Given the description of an element on the screen output the (x, y) to click on. 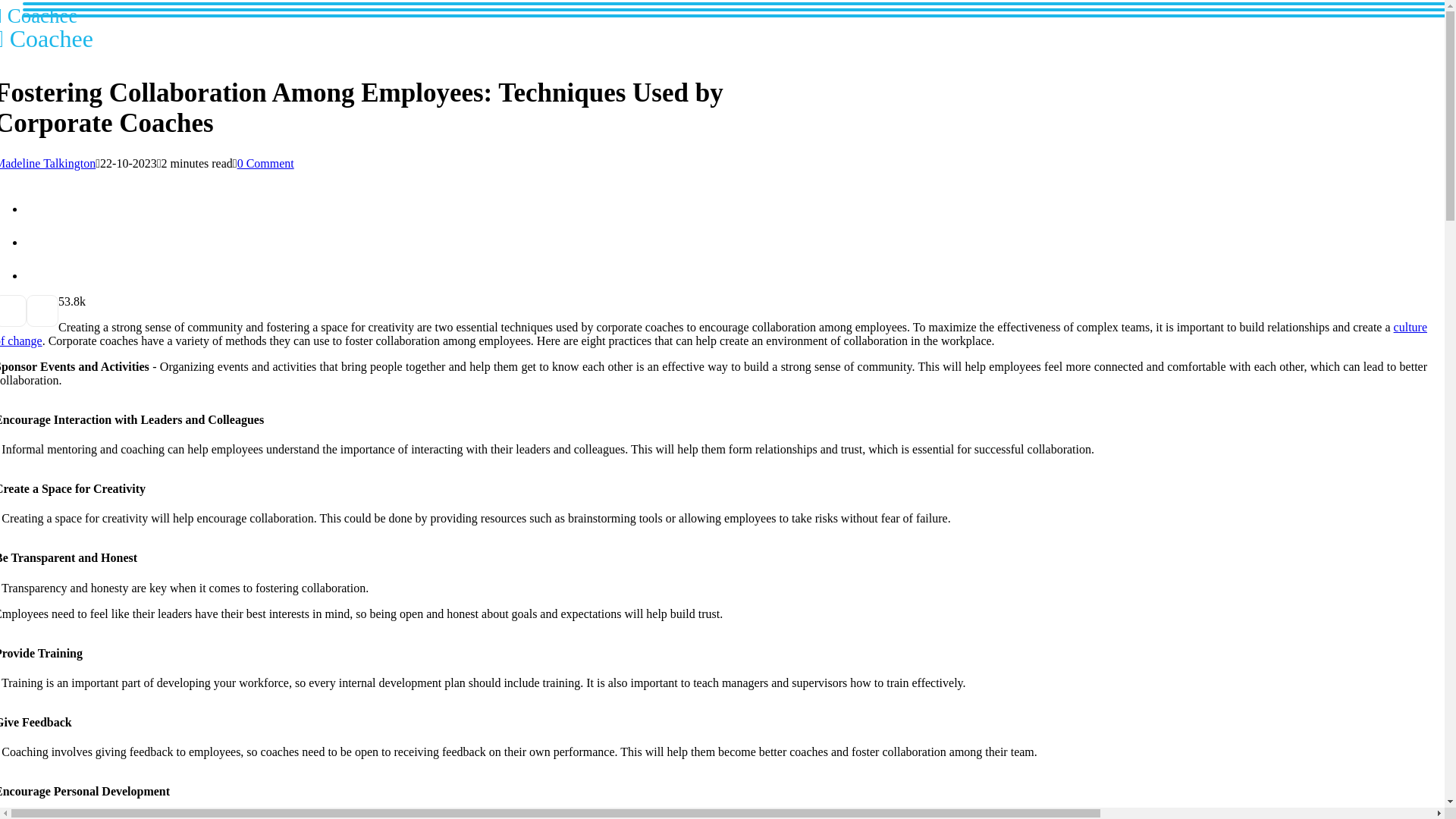
Madeline Talkington (48, 163)
Posts by Madeline Talkington (46, 27)
culture of change (48, 163)
0 Comment (713, 334)
Set Goals (265, 163)
